Given the description of an element on the screen output the (x, y) to click on. 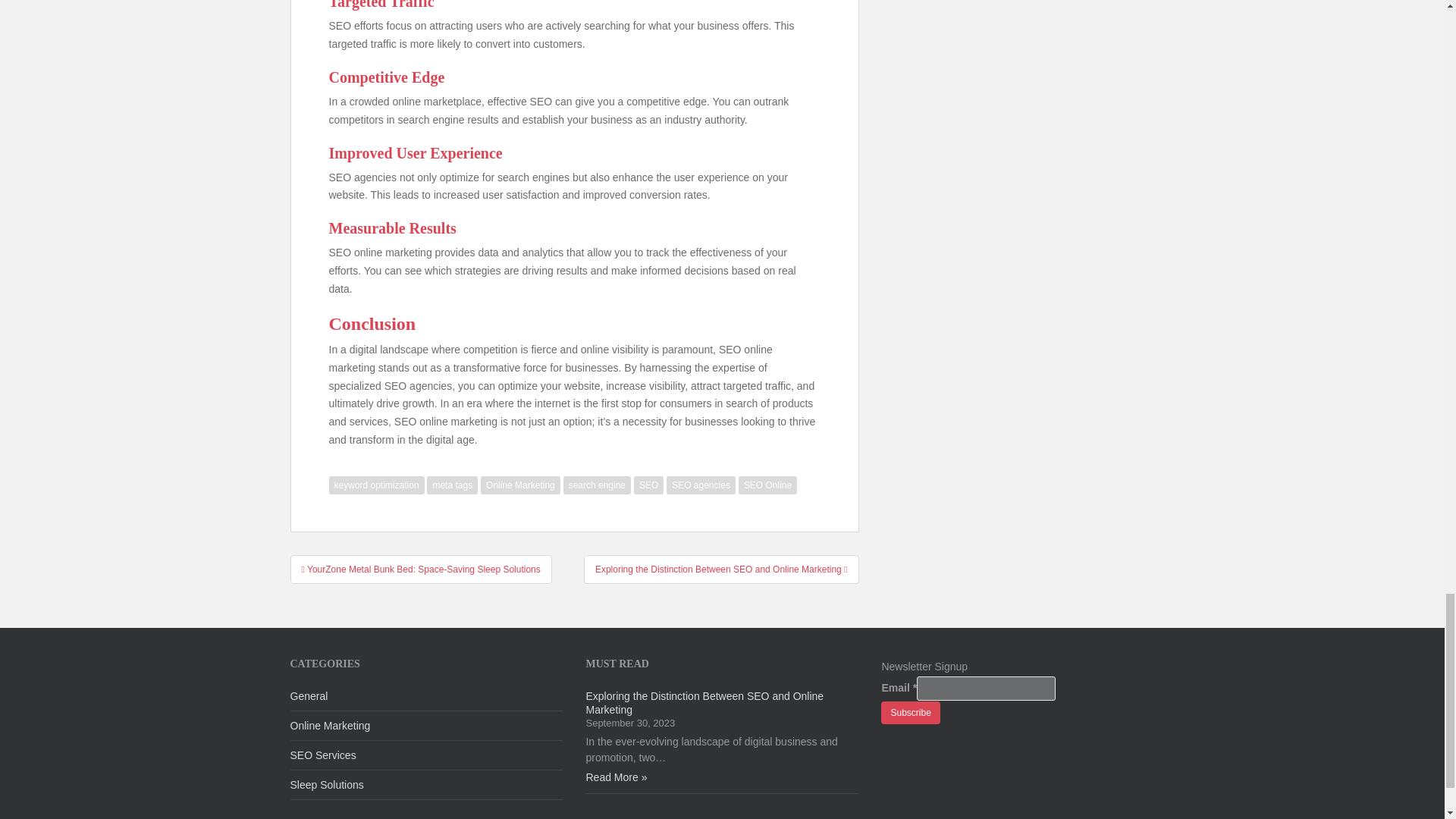
YourZone Metal Bunk Bed: Space-Saving Sleep Solutions (420, 569)
SEO (648, 484)
meta tags (451, 484)
keyword optimization (377, 484)
SEO agencies (700, 484)
SEO Online (767, 484)
search engine (596, 484)
Exploring the Distinction Between SEO and Online Marketing (721, 569)
Online Marketing (520, 484)
